Given the description of an element on the screen output the (x, y) to click on. 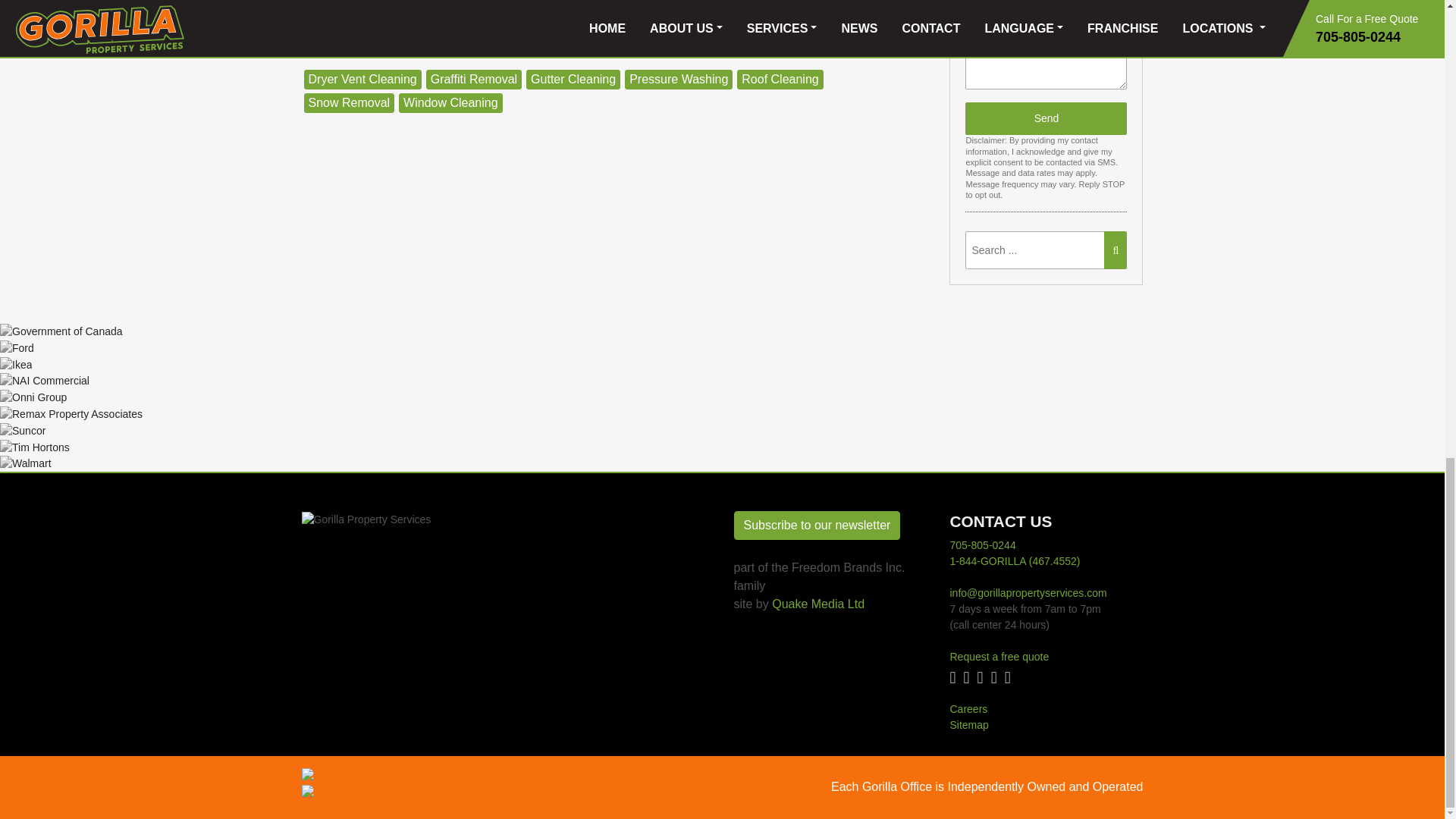
Send (1045, 118)
Sudbury Snow Removal (348, 103)
Sudbury Gutter Cleaning (572, 79)
Sudbury Roof Cleaning (779, 79)
Sudbury Dryer Vent Cleaning (361, 79)
Sudbury Window Cleaning (450, 103)
Sudbury Pressure Washing (678, 79)
Search for: (1044, 249)
Sudbury Graffiti Removal (473, 79)
